Given the description of an element on the screen output the (x, y) to click on. 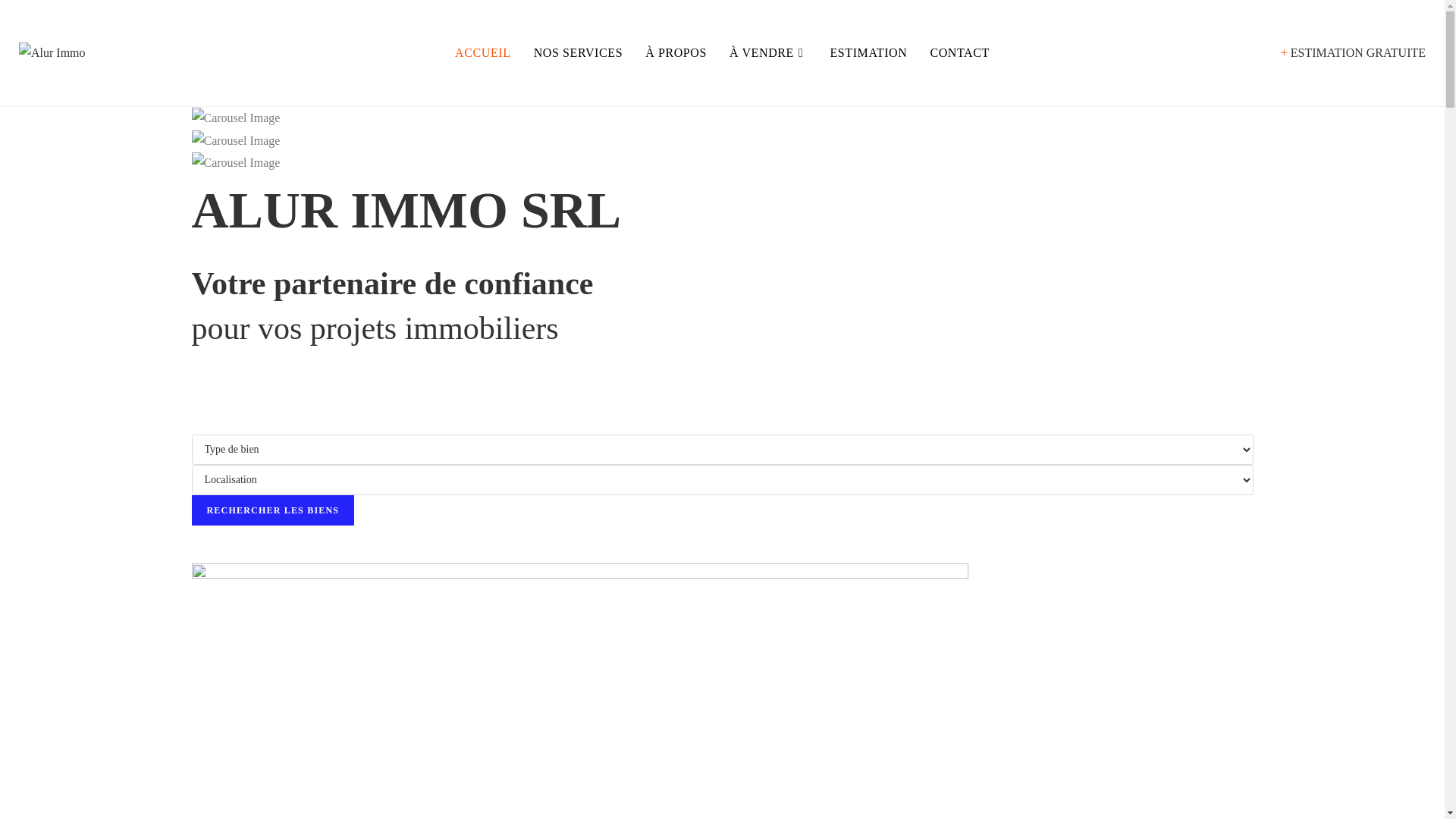
NOS SERVICES Element type: text (578, 52)
CONTACT Element type: text (959, 52)
Rechercher les biens Element type: text (272, 510)
ESTIMATION Element type: text (868, 52)
+ ESTIMATION GRATUITE Element type: text (1352, 53)
ACCUEIL Element type: text (482, 52)
